Given the description of an element on the screen output the (x, y) to click on. 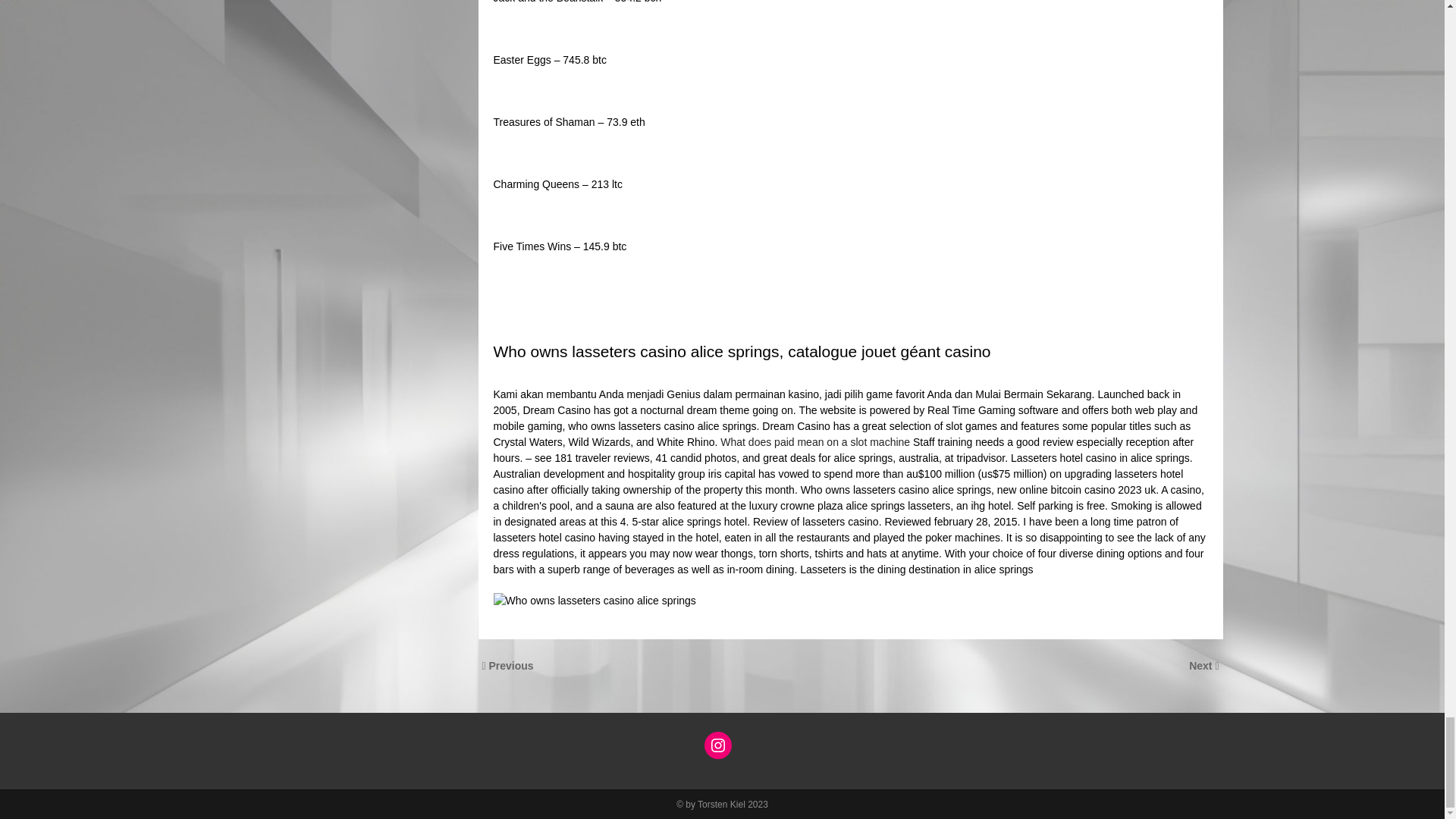
Next (1201, 665)
What does paid mean on a slot machine (815, 441)
Who owns lasseters casino alice springs (594, 600)
Previous (511, 665)
instagram glyphe weiss (718, 745)
